Given the description of an element on the screen output the (x, y) to click on. 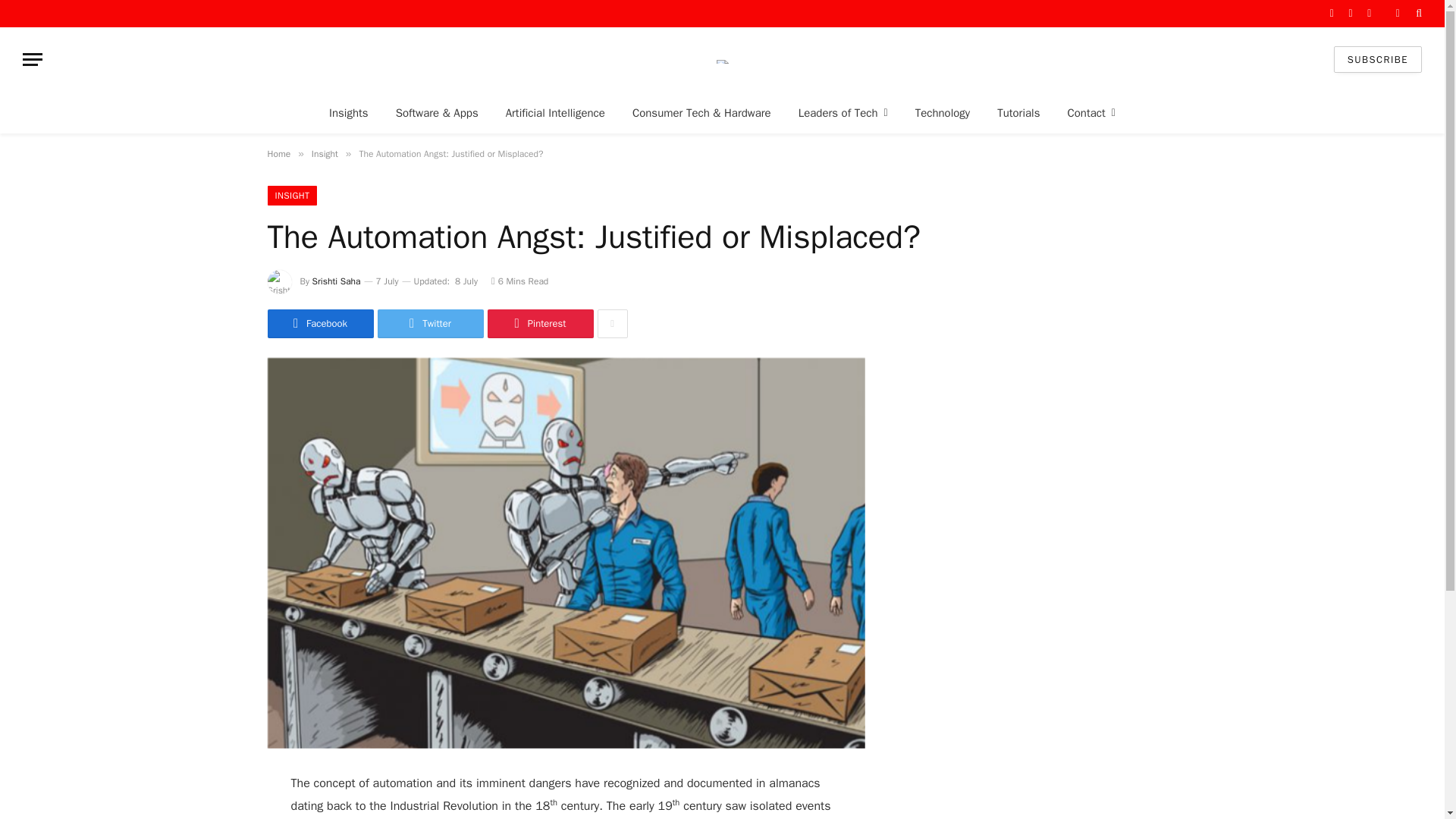
Switch to Dark Design - easier on eyes. (1397, 13)
Artificial Intelligence (555, 112)
Tutorials (1018, 112)
Contact (1090, 112)
Instagram (1368, 13)
Share on Facebook (319, 323)
Share on Pinterest (539, 323)
SUBSCRIBE (1377, 58)
Posts by Srishti Saha (337, 281)
Insights (348, 112)
Technology (942, 112)
Facebook (1331, 13)
Yaabot (722, 59)
Leaders of Tech (842, 112)
